Given the description of an element on the screen output the (x, y) to click on. 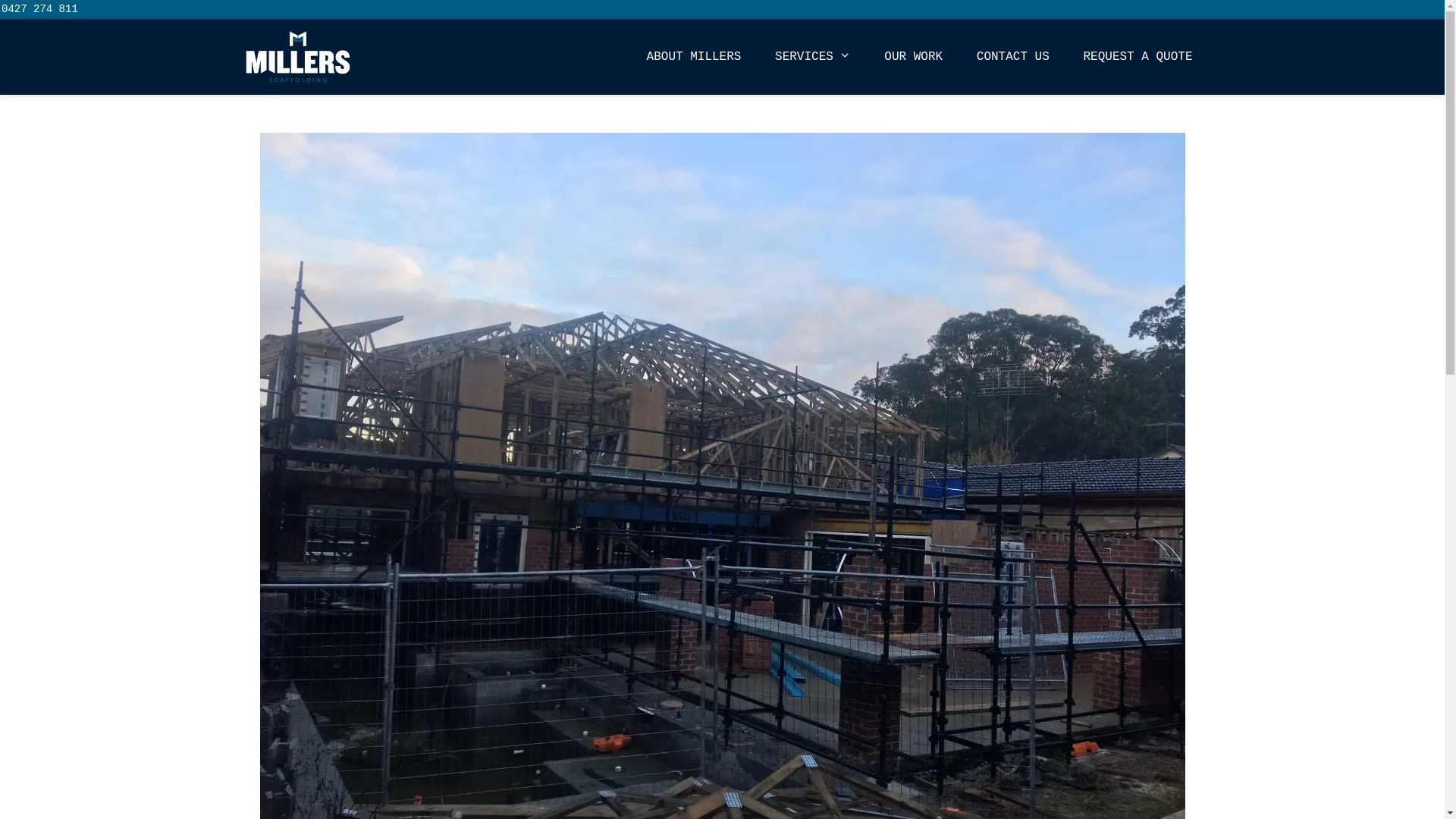
CONTACT US Element type: text (1012, 56)
REQUEST A QUOTE Element type: text (1137, 56)
ABOUT MILLERS Element type: text (693, 56)
Millers Scaffolding Element type: hover (300, 56)
0427 274 811 Element type: text (39, 9)
SERVICES Element type: text (812, 56)
OUR WORK Element type: text (913, 56)
